Given the description of an element on the screen output the (x, y) to click on. 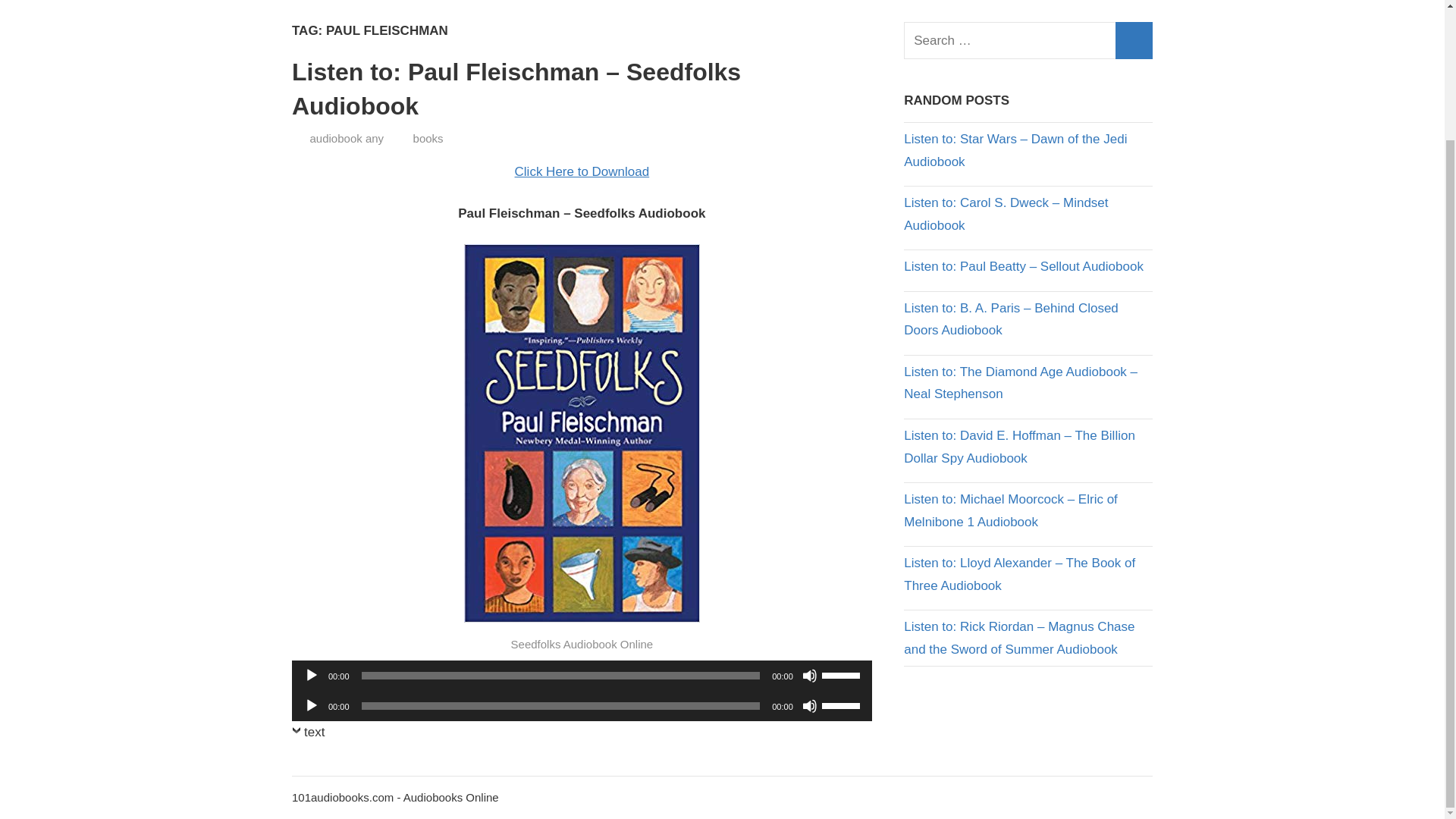
text (308, 735)
Play (311, 705)
Search (1134, 40)
Mute (809, 675)
books (428, 137)
Mute (809, 705)
View all posts by audiobook any (346, 137)
Click Here to Download (582, 171)
Play (311, 675)
Search for: (1028, 40)
audiobook any (346, 137)
